Given the description of an element on the screen output the (x, y) to click on. 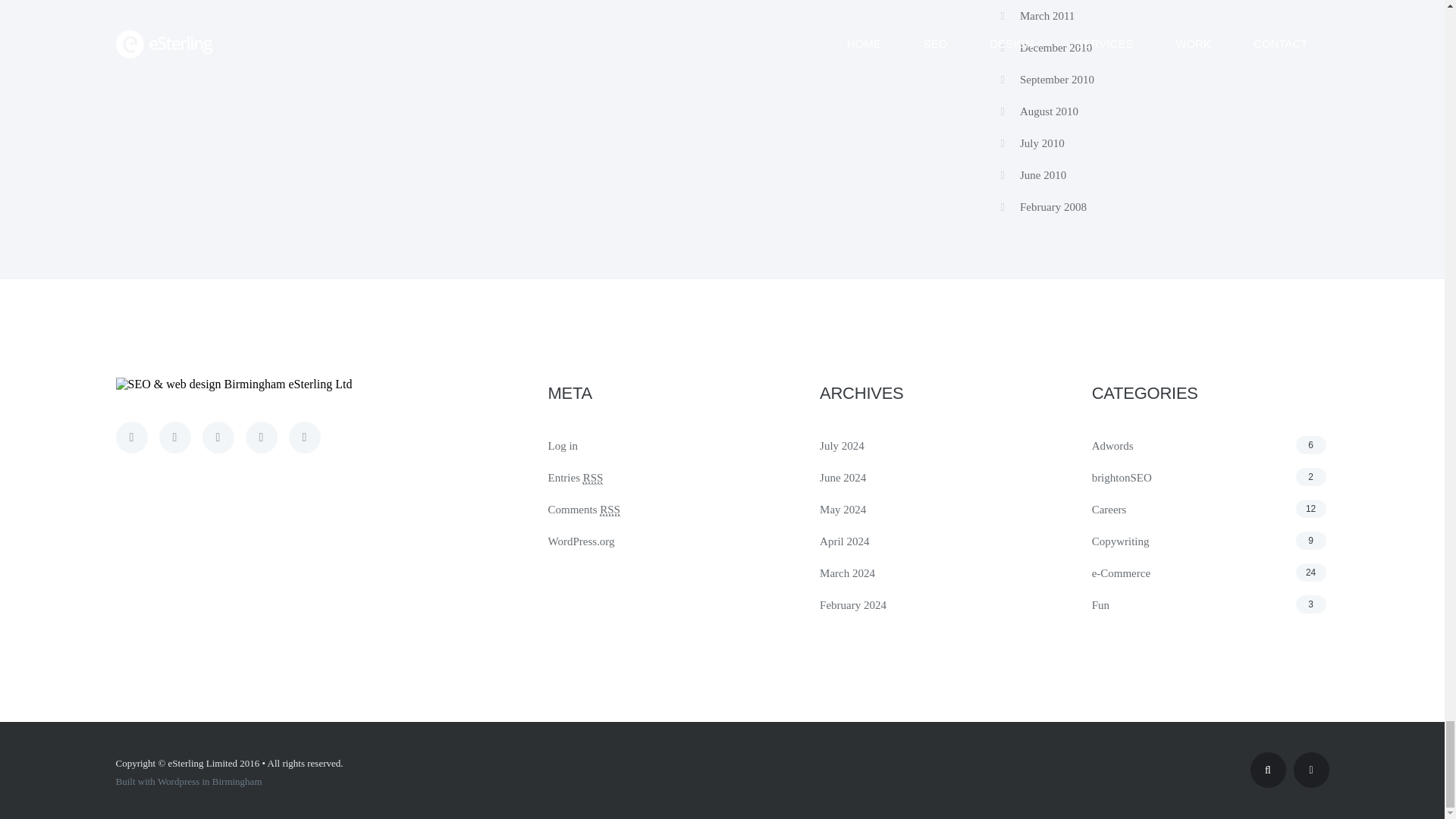
Really Simple Syndication (609, 509)
LinkedIn (304, 437)
Really Simple Syndication (593, 477)
Instagram (262, 437)
Twitter (131, 437)
Facebook (217, 437)
Dribbble (174, 437)
